Given the description of an element on the screen output the (x, y) to click on. 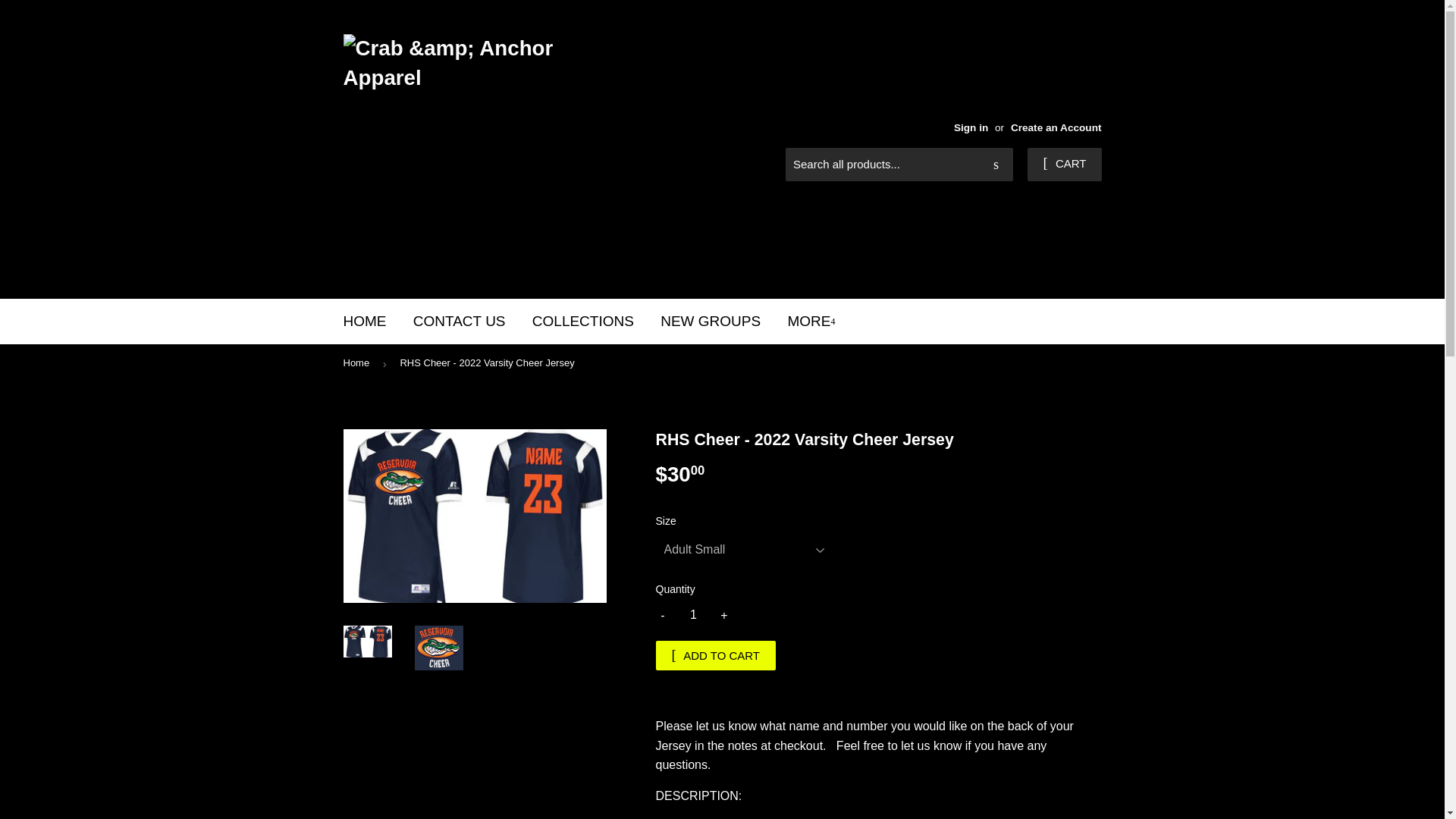
CONTACT US (458, 320)
COLLECTIONS (583, 320)
Create an Account (1056, 127)
Search (995, 164)
HOME (364, 320)
ADD TO CART (715, 655)
NEW GROUPS (710, 320)
1 (692, 614)
MORE (810, 320)
Sign in (970, 127)
CART (1063, 164)
